Given the description of an element on the screen output the (x, y) to click on. 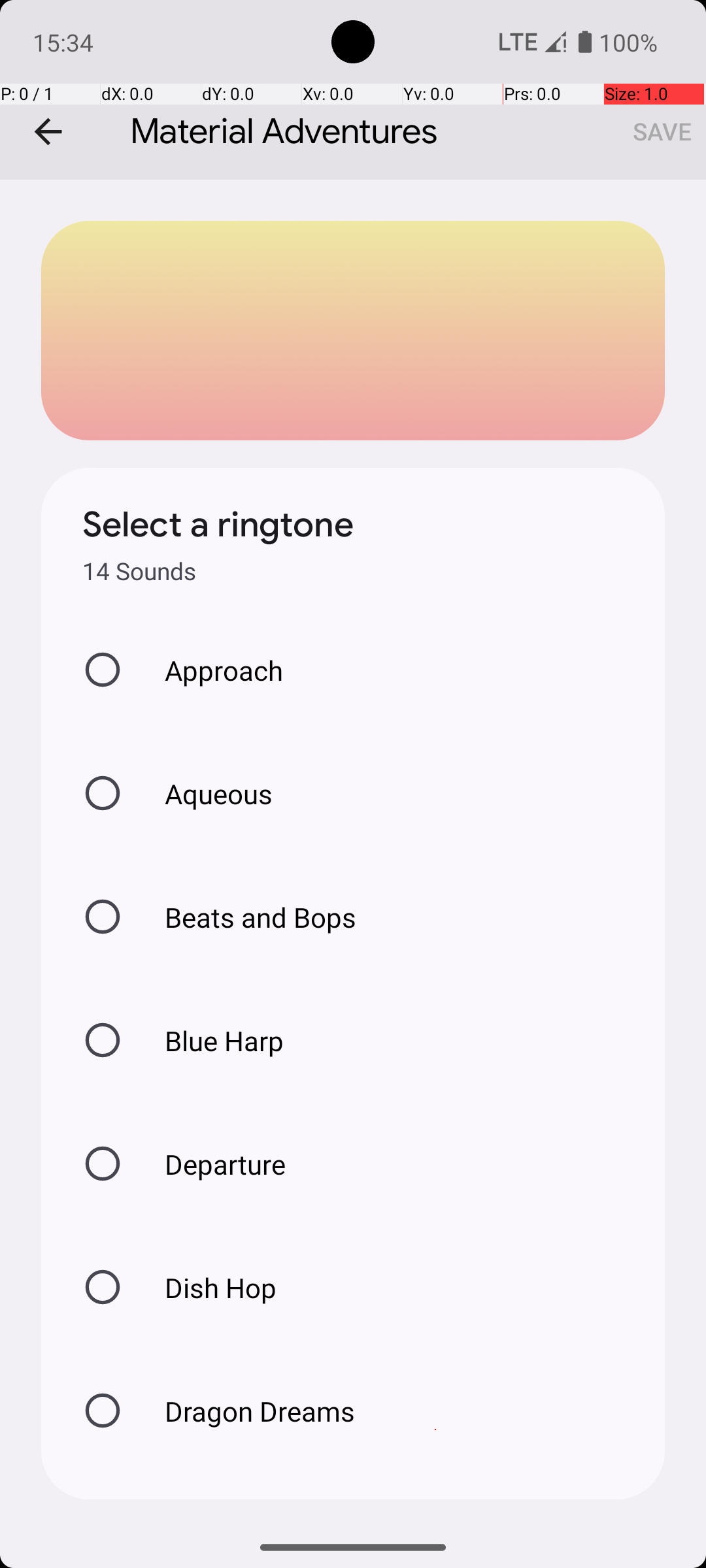
Material Adventures Element type: android.widget.FrameLayout (353, 89)
14 Sounds Element type: android.widget.TextView (139, 570)
Approach Element type: android.widget.TextView (210, 669)
Aqueous Element type: android.widget.TextView (204, 793)
Beats and Bops Element type: android.widget.TextView (246, 916)
Blue Harp Element type: android.widget.TextView (210, 1040)
Departure Element type: android.widget.TextView (211, 1163)
Dish Hop Element type: android.widget.TextView (206, 1287)
Dragon Dreams Element type: android.widget.TextView (245, 1410)
